Given the description of an element on the screen output the (x, y) to click on. 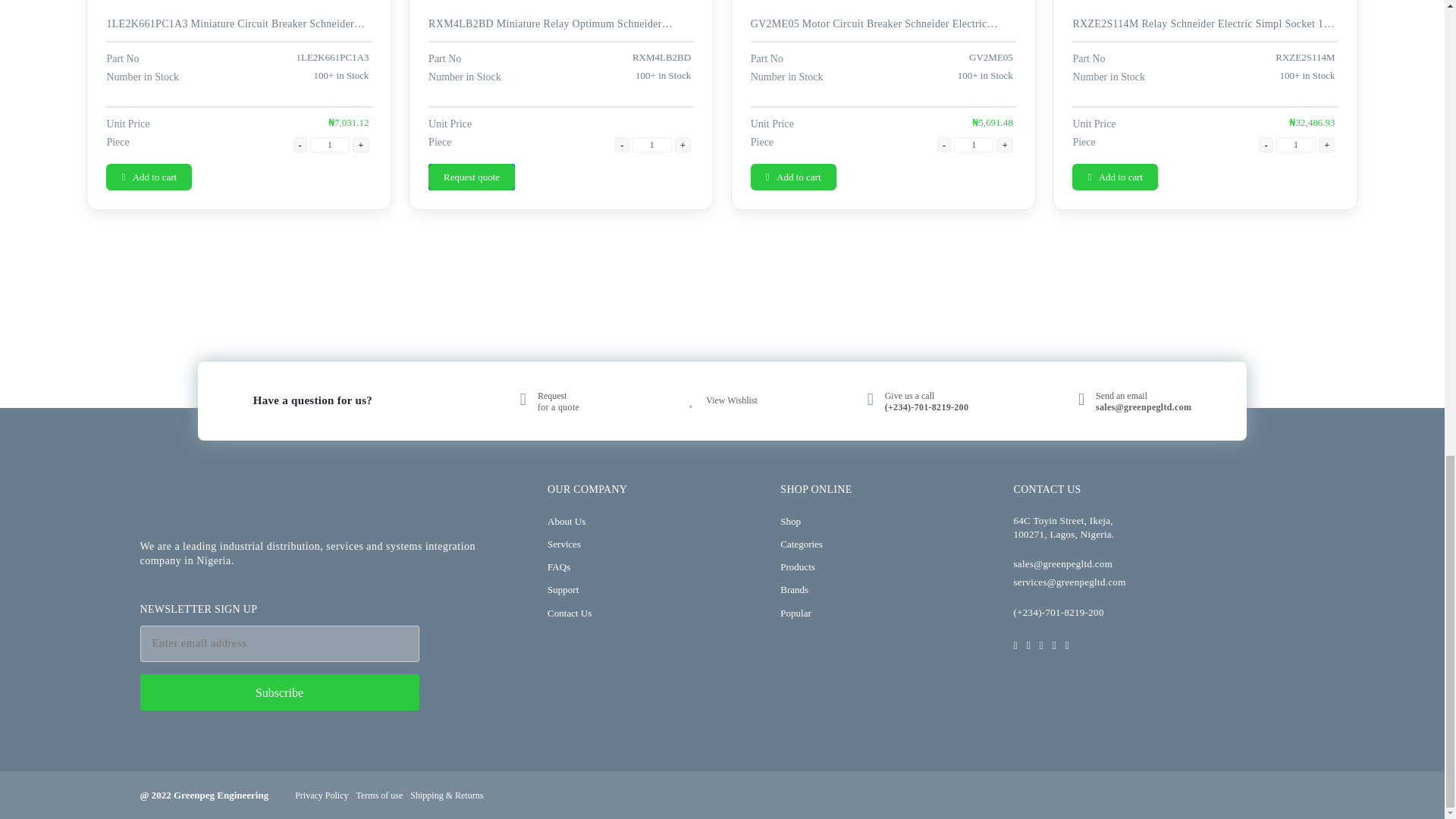
1 (1296, 144)
Subscribe (279, 692)
Qty (651, 144)
Qty (972, 144)
1 (329, 144)
1 (651, 144)
1 (972, 144)
Qty (329, 144)
Qty (1296, 144)
